Given the description of an element on the screen output the (x, y) to click on. 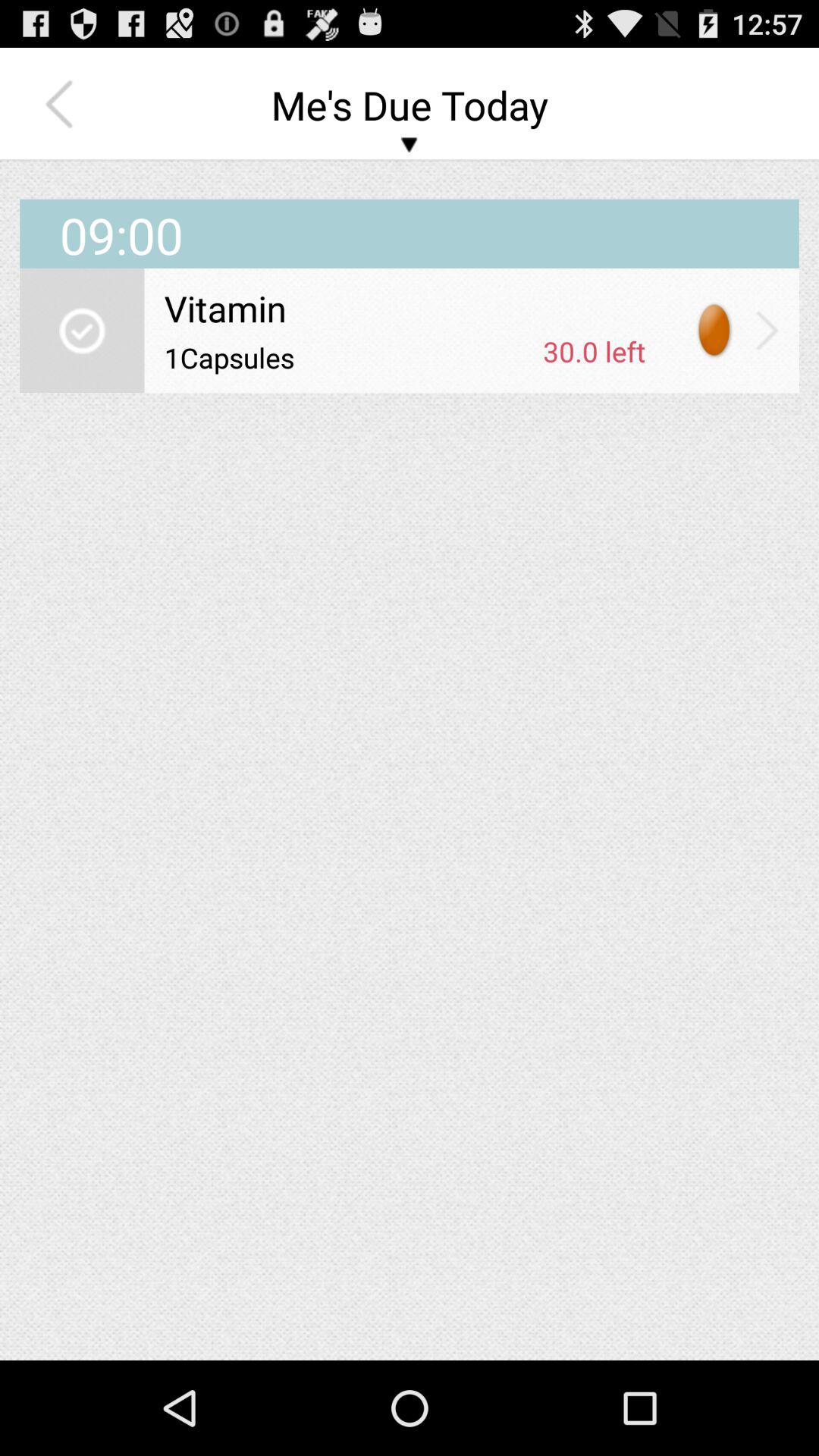
select the icon next to the me s due icon (63, 104)
